Given the description of an element on the screen output the (x, y) to click on. 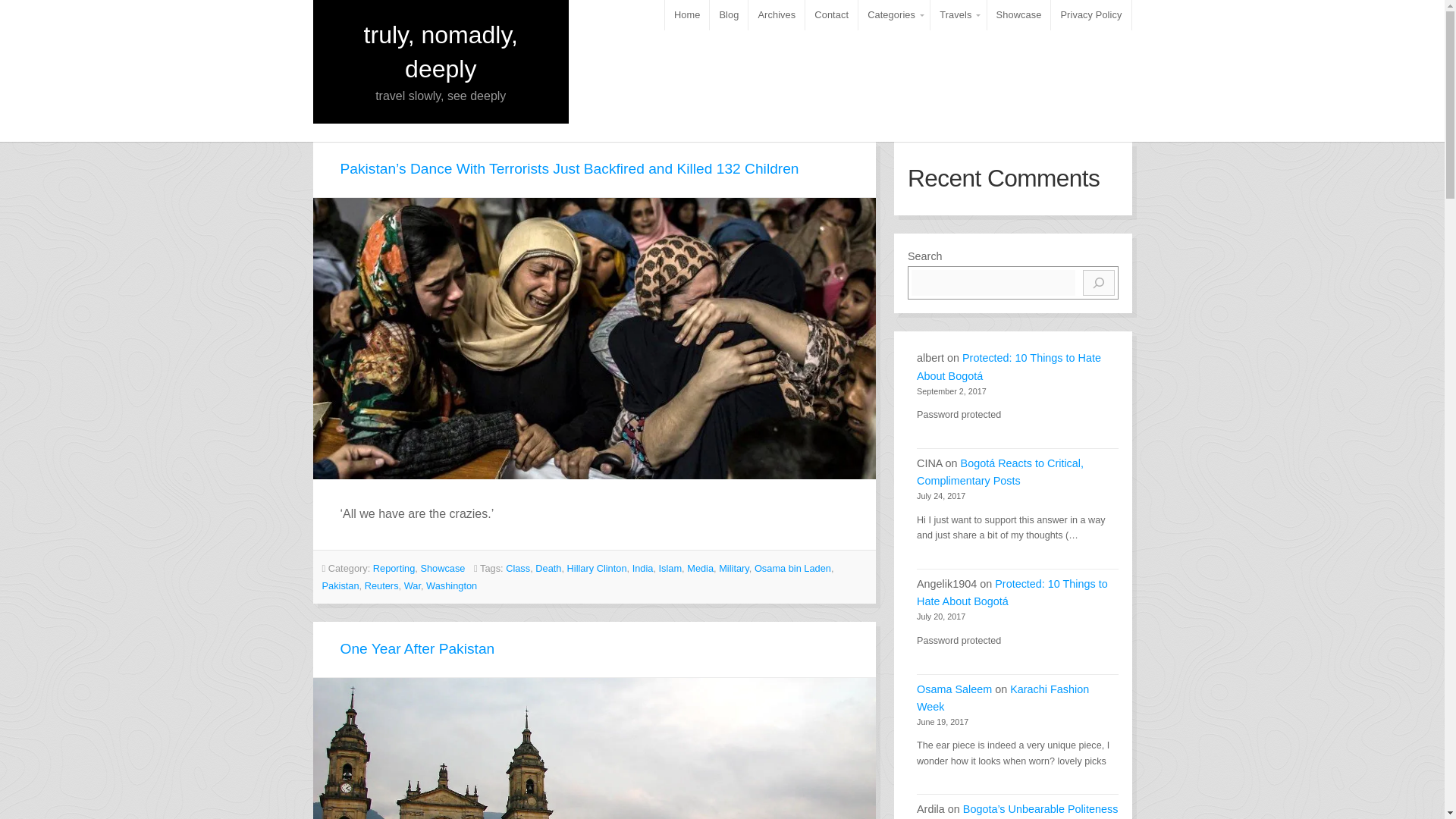
Travels (957, 15)
Permalink to One Year After Pakistan (594, 748)
Privacy Policy (1091, 15)
Showcase (1019, 15)
Blog (729, 15)
truly, nomadly, deeply (441, 51)
One Year After Pakistan (417, 648)
Contact (831, 15)
Home (687, 15)
Categories (894, 15)
Archives (776, 15)
